Given the description of an element on the screen output the (x, y) to click on. 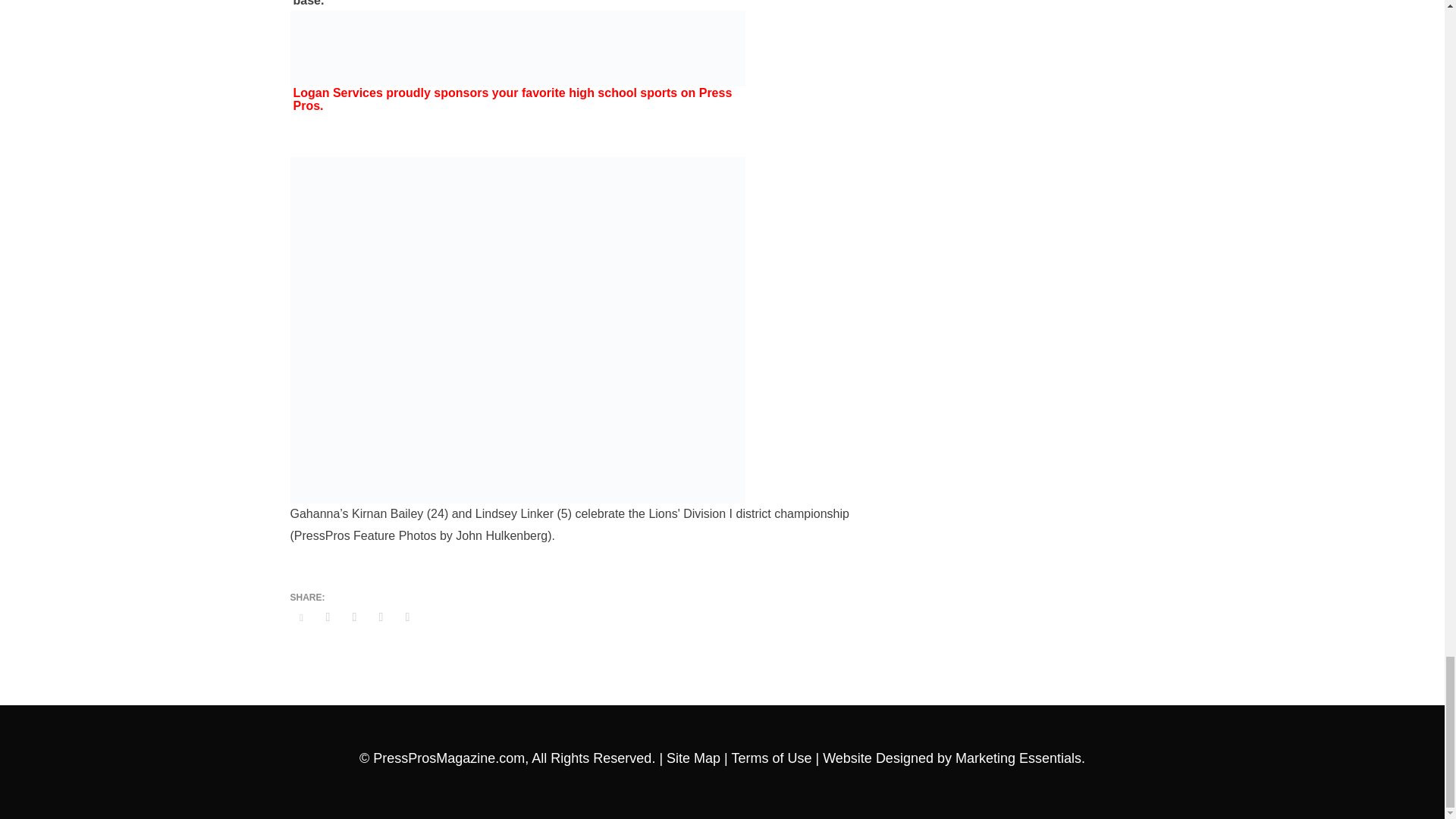
SHARE ON MAIL (407, 617)
SHARE ON GPLUS (353, 617)
SHARE ON FACEBOOK (328, 617)
SHARE ON TWITTER (301, 617)
SHARE ON PINTEREST (381, 617)
